Given the description of an element on the screen output the (x, y) to click on. 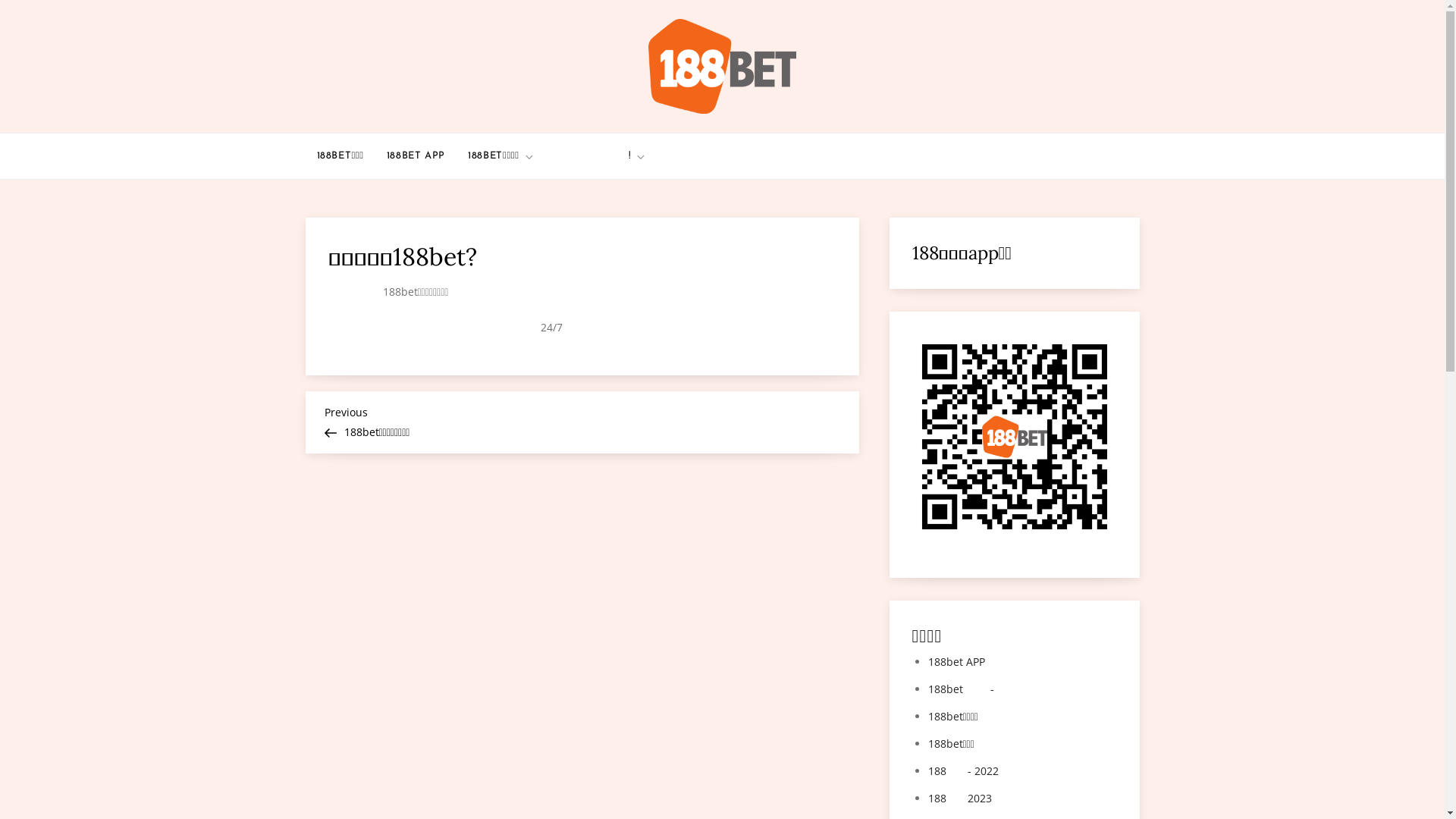
188 Element type: hover (1013, 528)
188bet APP Element type: text (956, 661)
188BET APP Element type: text (416, 155)
